Given the description of an element on the screen output the (x, y) to click on. 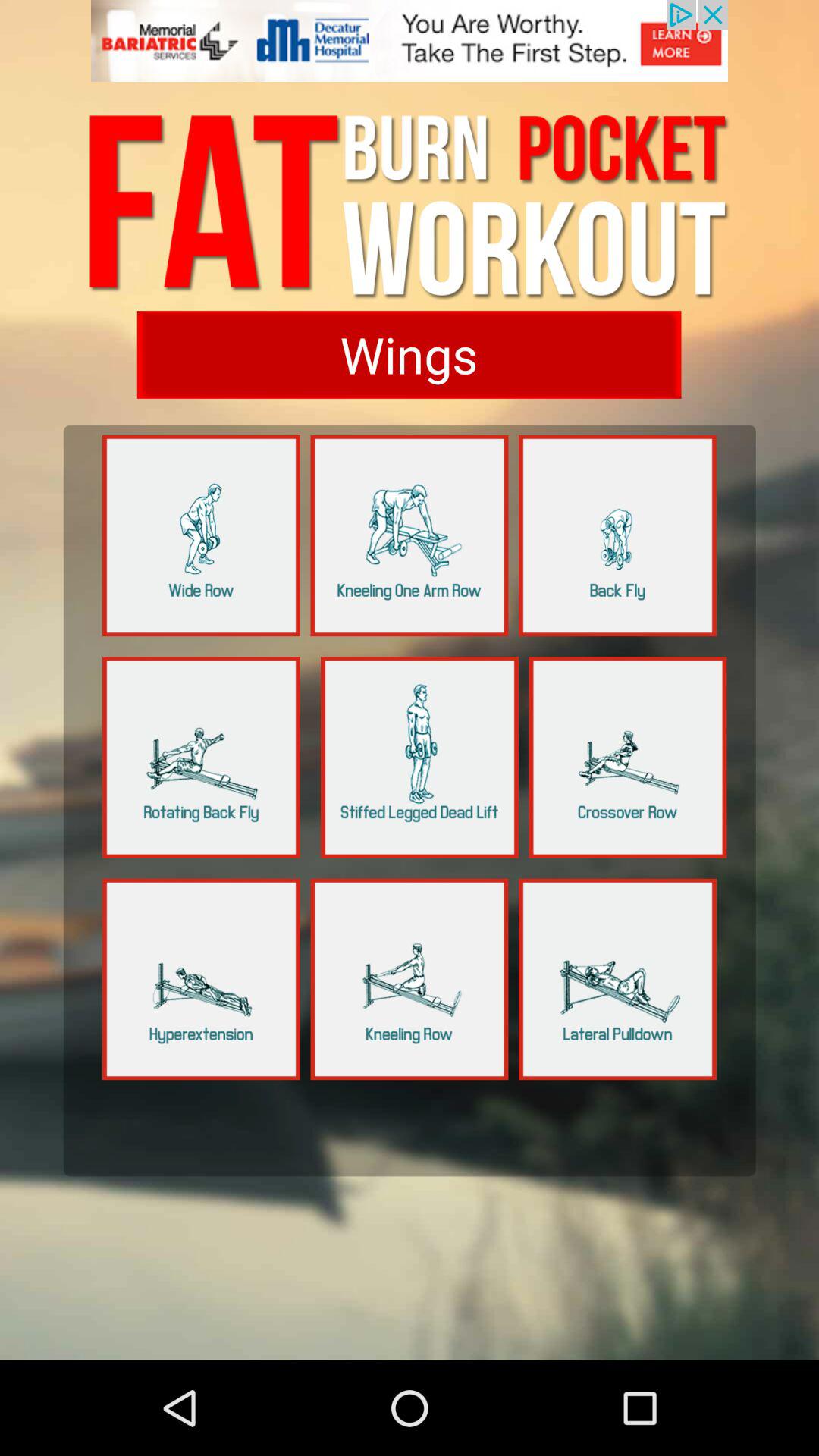
go to workout option (409, 979)
